Given the description of an element on the screen output the (x, y) to click on. 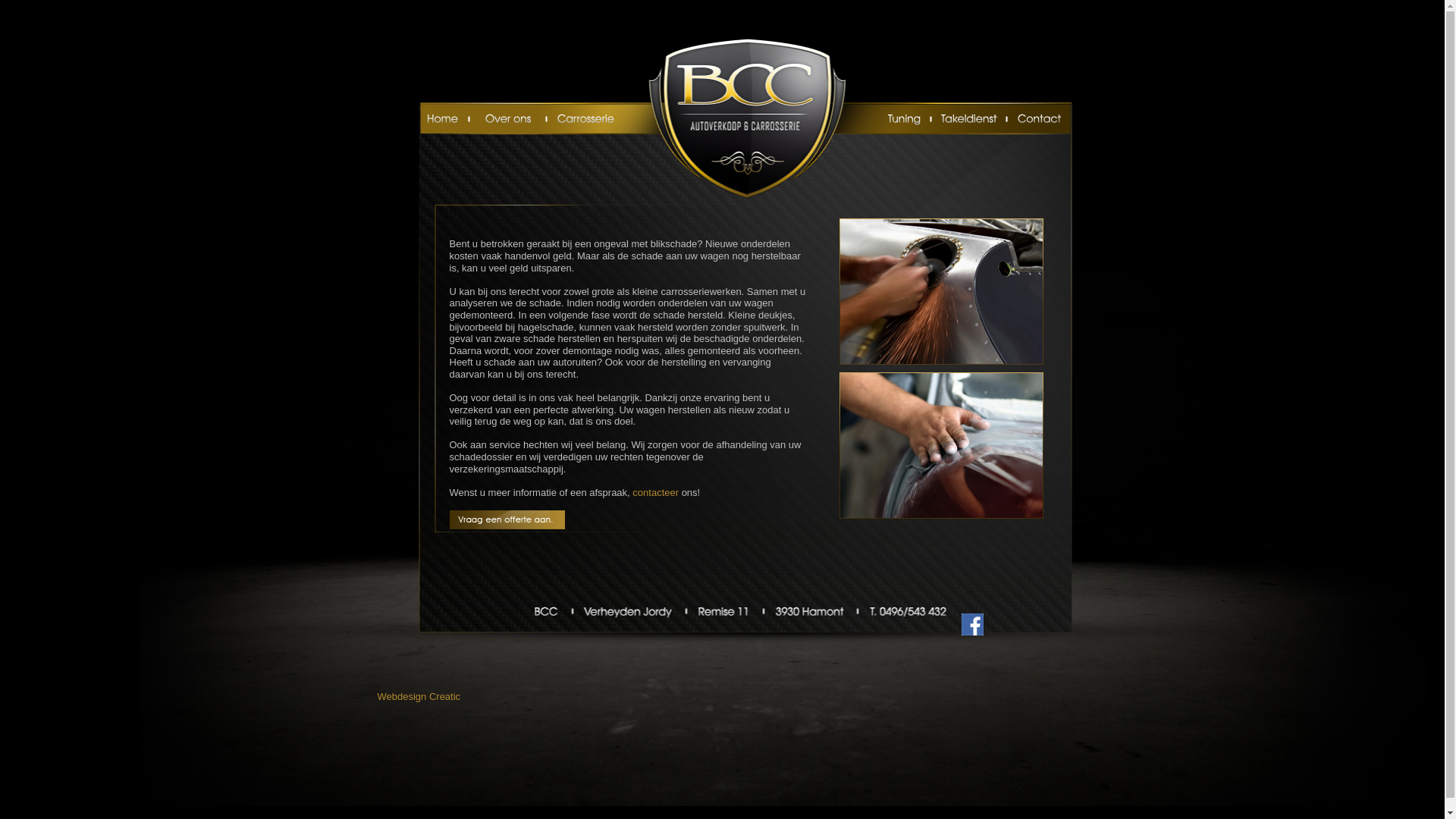
Vraag een offerte aan Element type: hover (506, 519)
Bezoek B-C-C op Facebook. Element type: hover (972, 632)
carrosseriewerken B-C-C Hamont Element type: hover (940, 291)
Webdesign Creatic Element type: text (419, 696)
contacteer Element type: text (655, 492)
Carrosseriewerken B-C-C Hamont Element type: hover (940, 445)
